Given the description of an element on the screen output the (x, y) to click on. 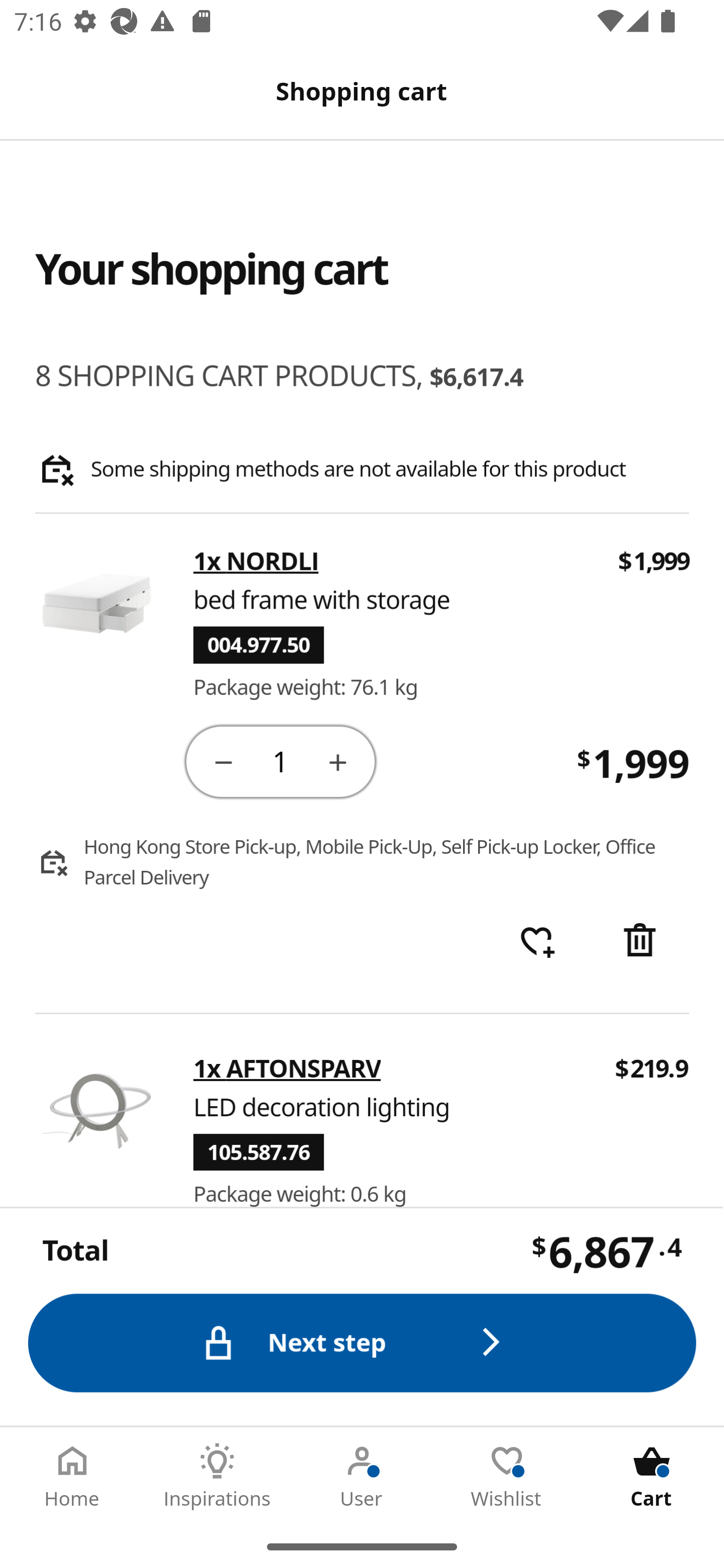
1x  NORDLI 1x  NORDLI (256, 561)
1 (281, 760)
 (223, 761)
 (338, 761)
  (536, 942)
 (641, 942)
1x  AFTONSPARV 1x  AFTONSPARV (287, 1068)
Home
Tab 1 of 5 (72, 1476)
Inspirations
Tab 2 of 5 (216, 1476)
User
Tab 3 of 5 (361, 1476)
Wishlist
Tab 4 of 5 (506, 1476)
Cart
Tab 5 of 5 (651, 1476)
